Given the description of an element on the screen output the (x, y) to click on. 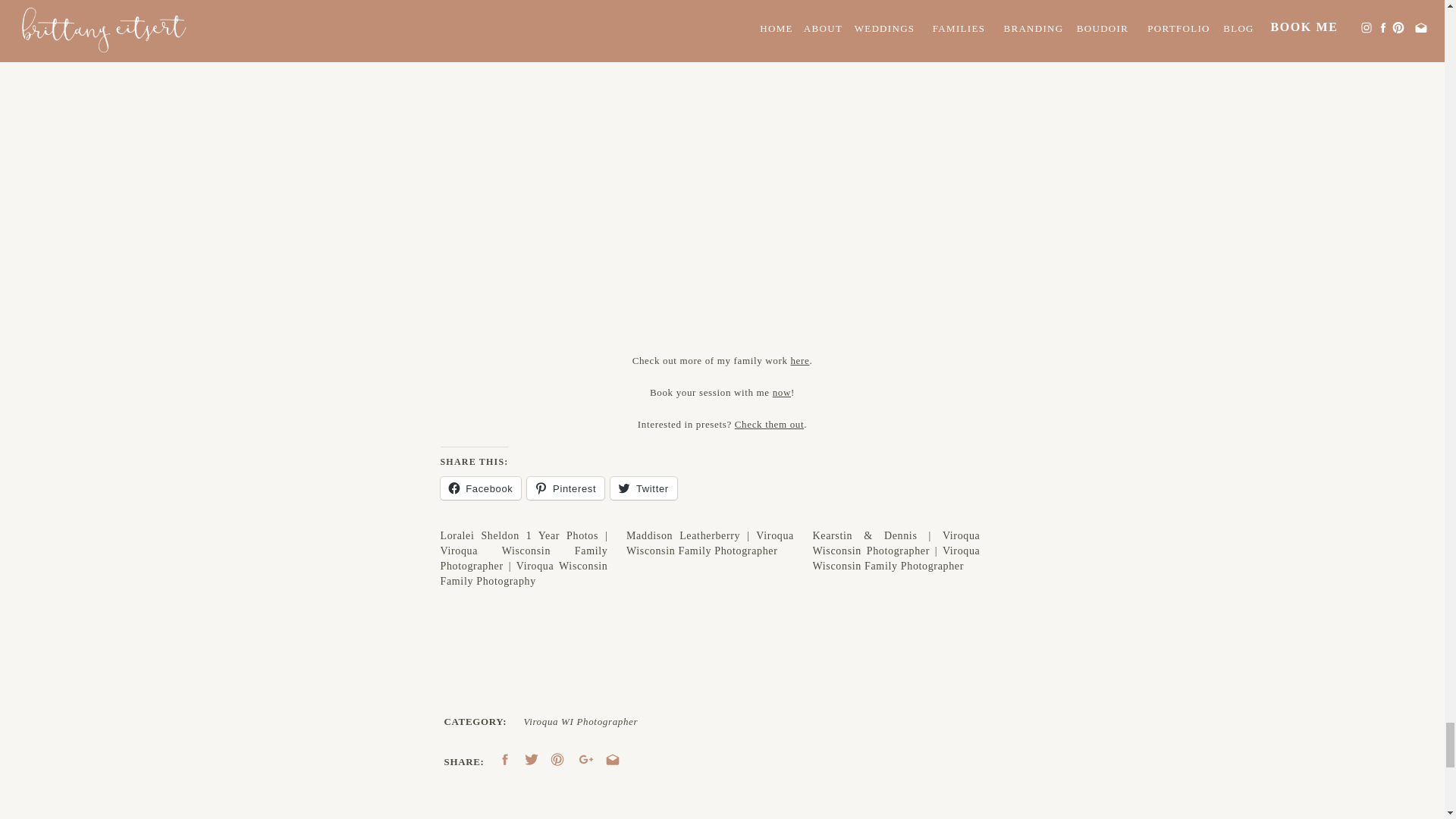
Click to share on Pinterest (565, 487)
Click to share on Facebook (480, 487)
here (799, 360)
Click to share on Twitter (643, 487)
